Given the description of an element on the screen output the (x, y) to click on. 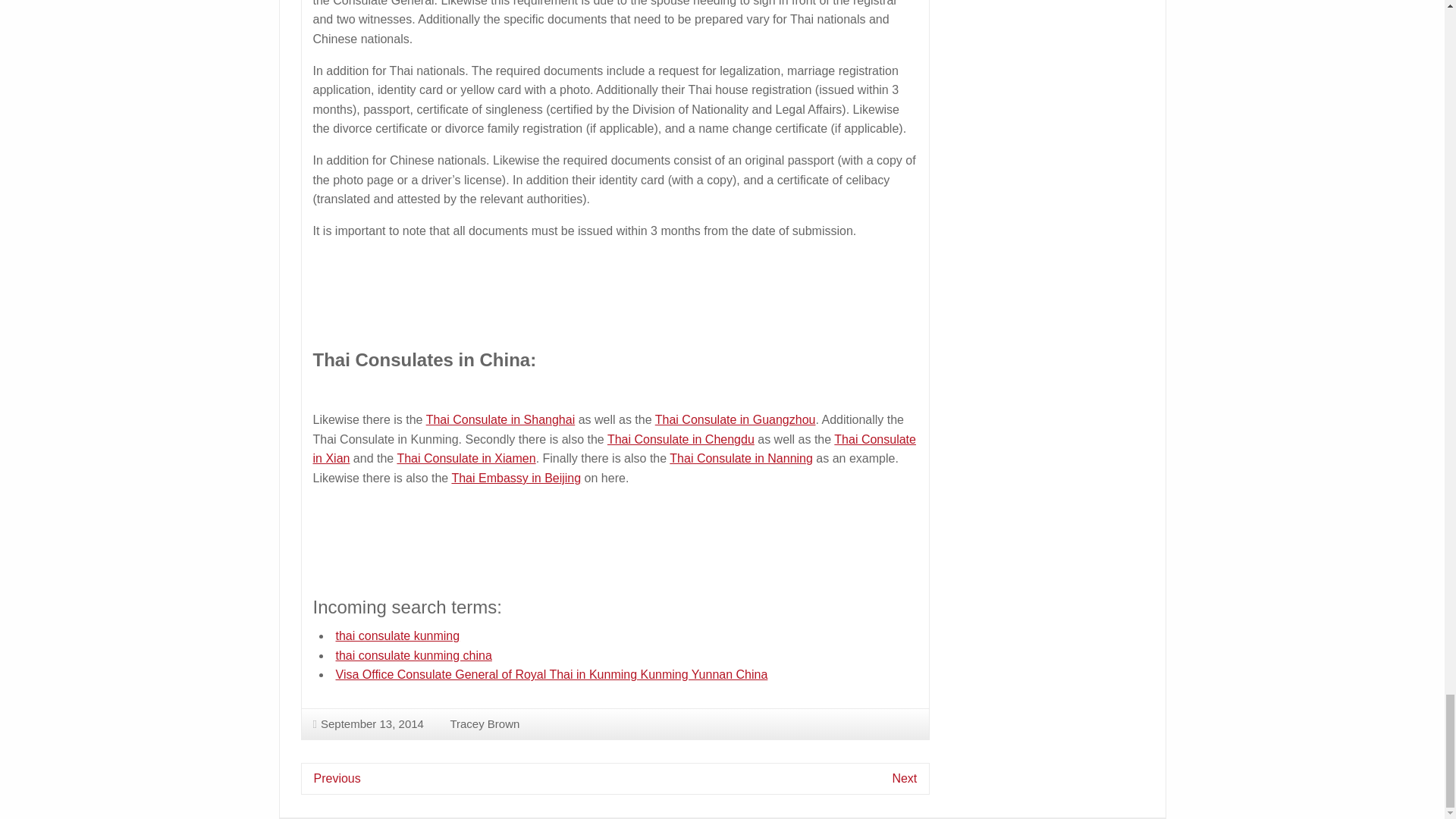
Thai Consulate in Guangzhou (735, 419)
thai consulate kunming (397, 635)
thai consulate kunming china (413, 655)
